Given the description of an element on the screen output the (x, y) to click on. 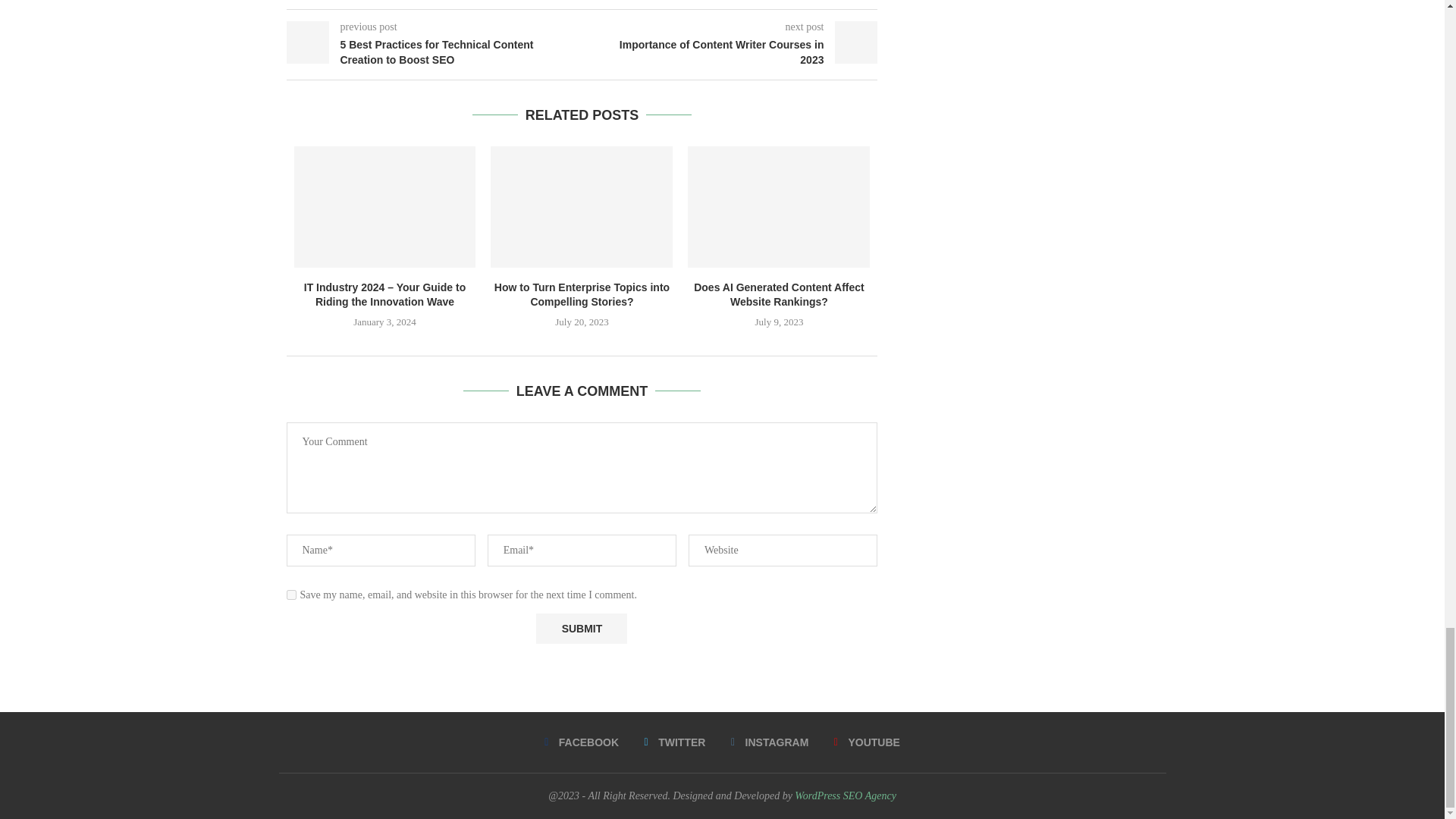
yes (291, 594)
Does AI Generated Content Affect Website Rankings? (778, 206)
Submit (581, 628)
How to Turn Enterprise Topics into Compelling Stories? (581, 206)
